Given the description of an element on the screen output the (x, y) to click on. 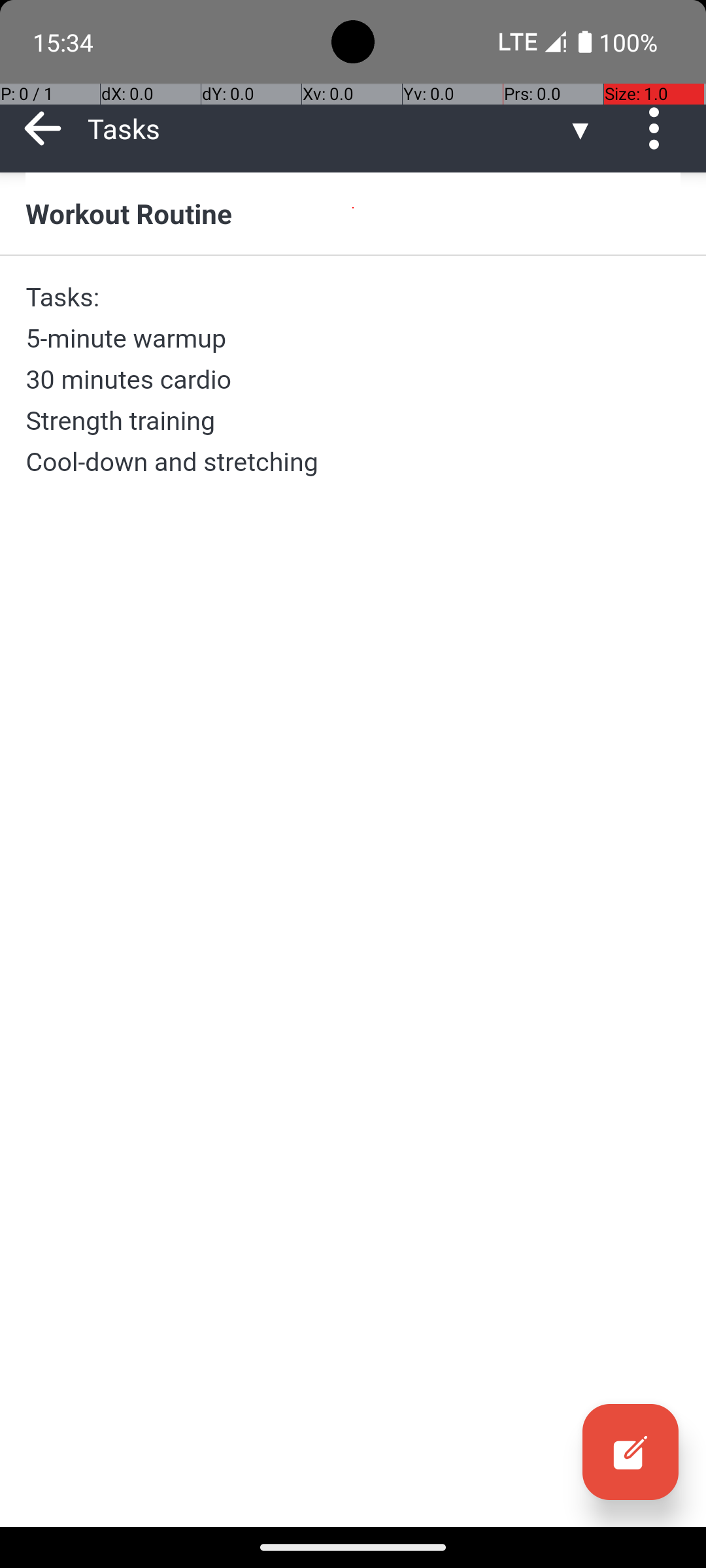
Workout Routine Element type: android.widget.EditText (352, 213)
Tasks:
5-minute warmup
30 minutes cardio
Strength training
Cool-down and stretching Element type: android.widget.TextView (352, 379)
